Given the description of an element on the screen output the (x, y) to click on. 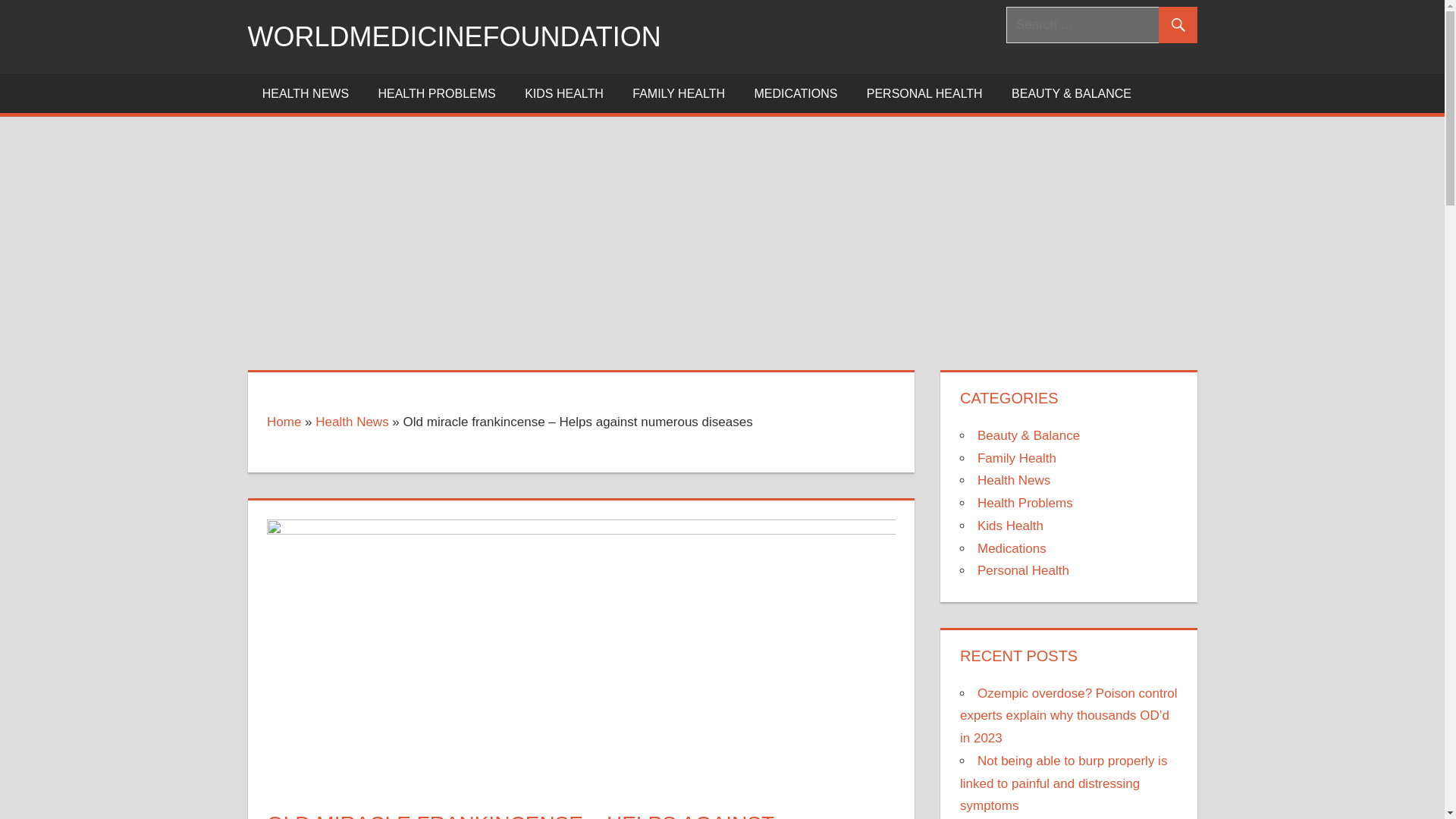
KIDS HEALTH (564, 93)
Health News (1012, 480)
FAMILY HEALTH (678, 93)
PERSONAL HEALTH (924, 93)
Kids Health (1009, 525)
HEALTH NEWS (304, 93)
MEDICATIONS (795, 93)
HEALTH PROBLEMS (436, 93)
Medications (1011, 548)
